Given the description of an element on the screen output the (x, y) to click on. 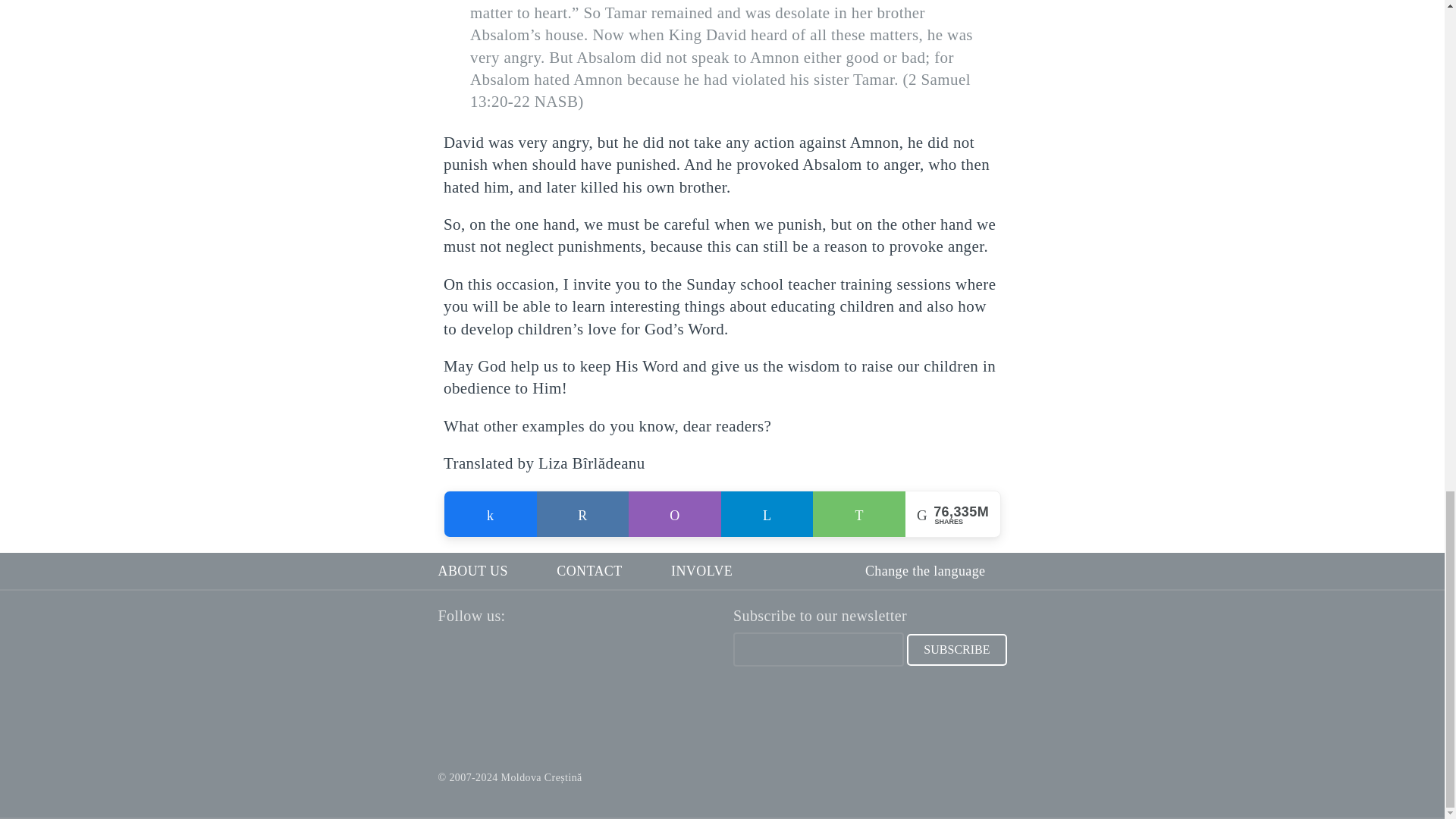
Subscribe (956, 649)
CONTACT (588, 570)
ABOUT US (473, 570)
76,335M (582, 514)
INVOLVE (701, 570)
